Given the description of an element on the screen output the (x, y) to click on. 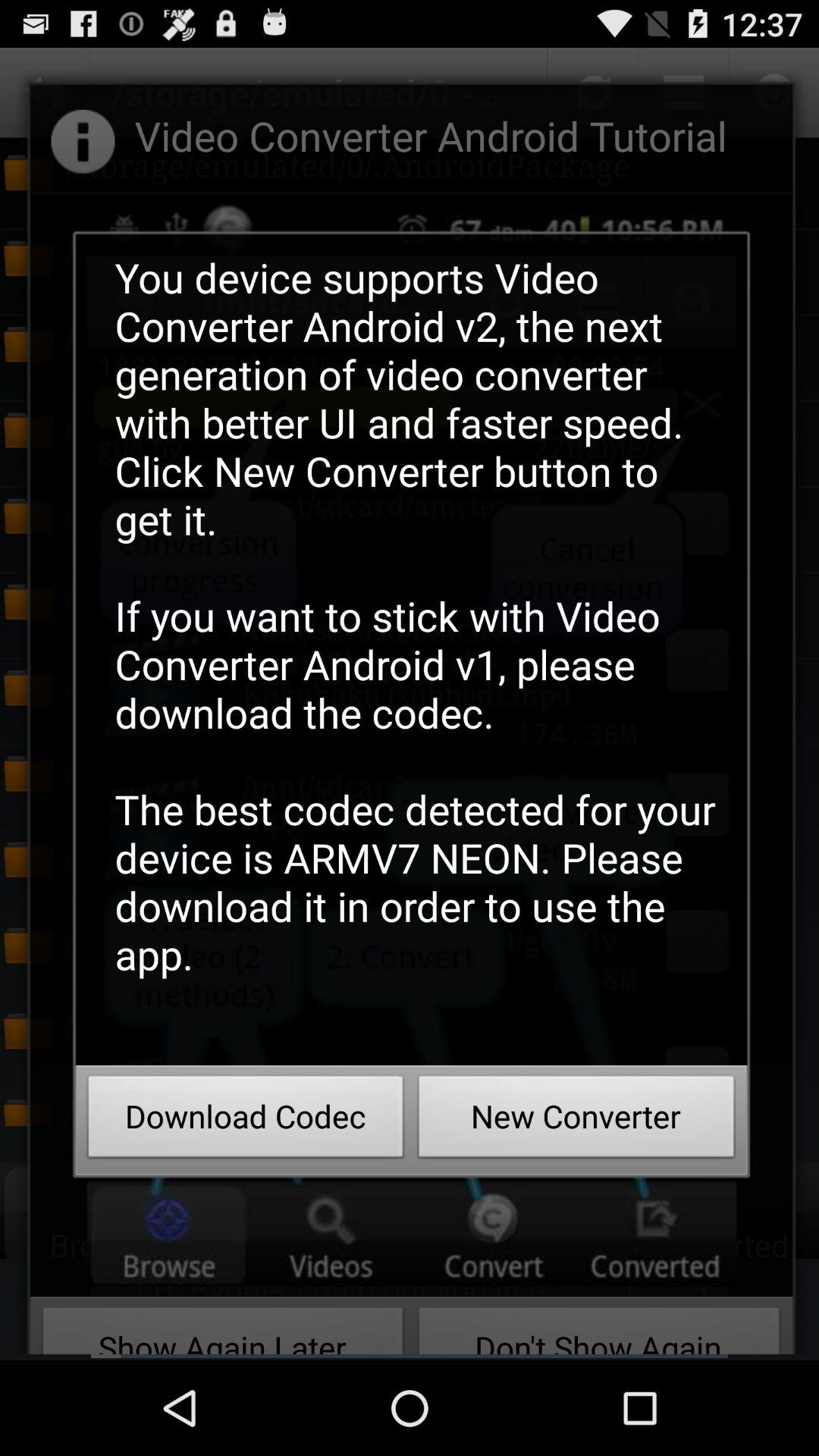
tap icon next to new converter button (245, 1120)
